Given the description of an element on the screen output the (x, y) to click on. 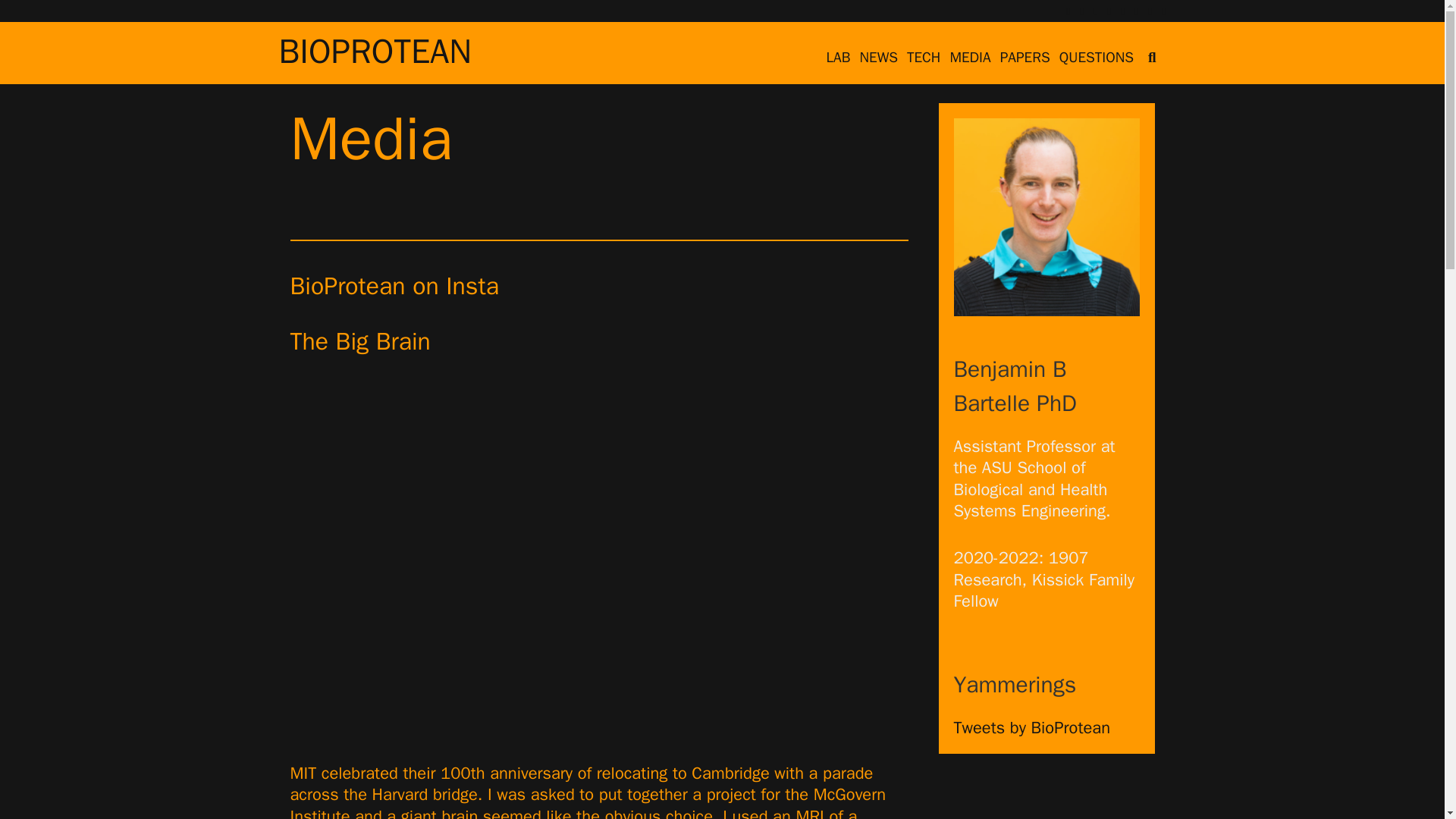
Tweets by BioProtean (1031, 727)
BIOPROTEAN (375, 51)
NEWS (878, 56)
PAPERS (1024, 56)
Search (171, 26)
MEDIA (969, 56)
QUESTIONS (1096, 56)
